Given the description of an element on the screen output the (x, y) to click on. 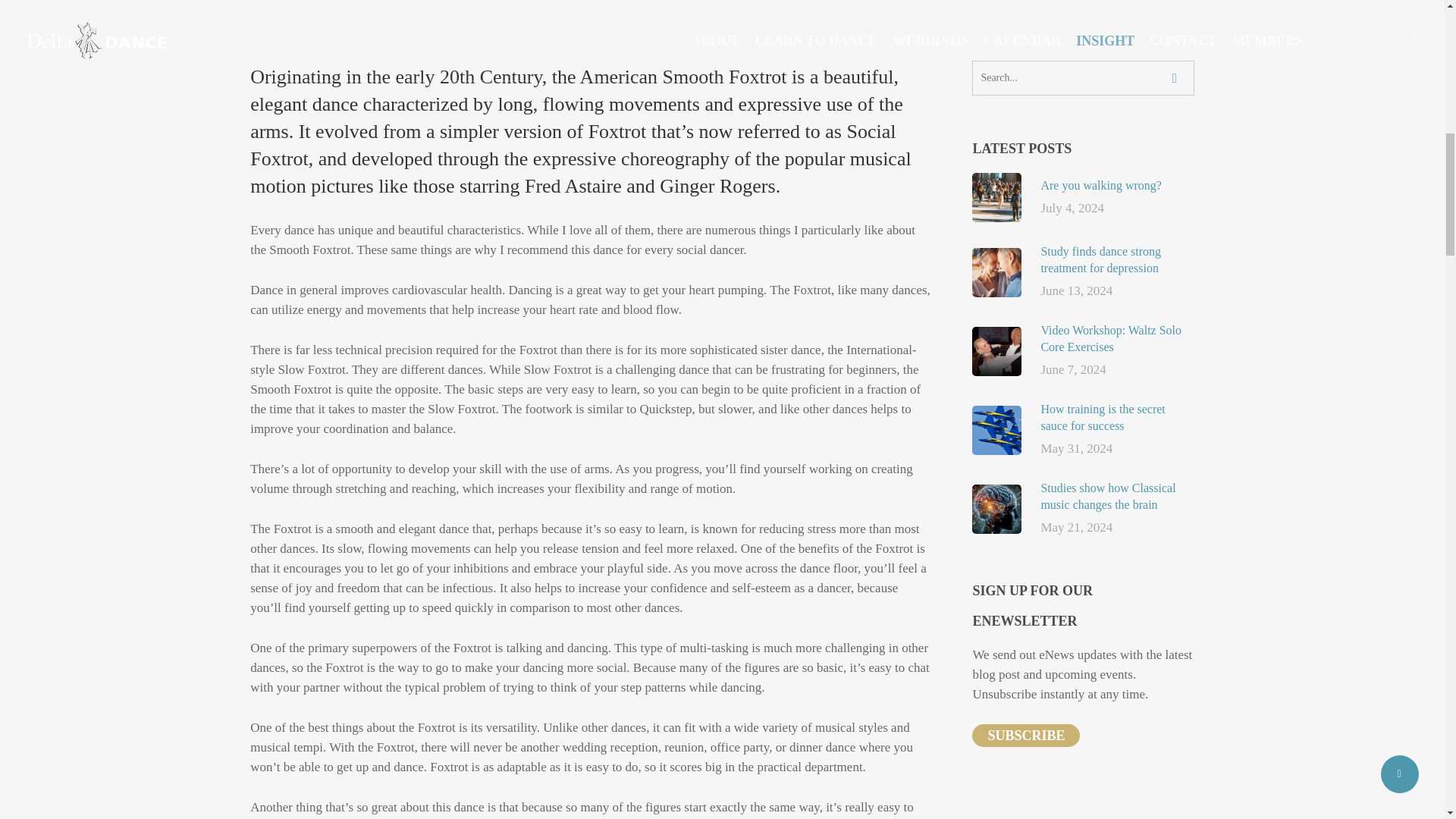
happy-seniors-dancing - Delta.Dance (997, 271)
blue-angels - Delta.Dance (997, 429)
how-classical-music-changes-the-brain-2 - Delta.Dance (997, 508)
video-ballroom - Delta.Dance (997, 350)
Search for: (1082, 77)
group-of-people-walking - Delta.Dance (997, 196)
